Given the description of an element on the screen output the (x, y) to click on. 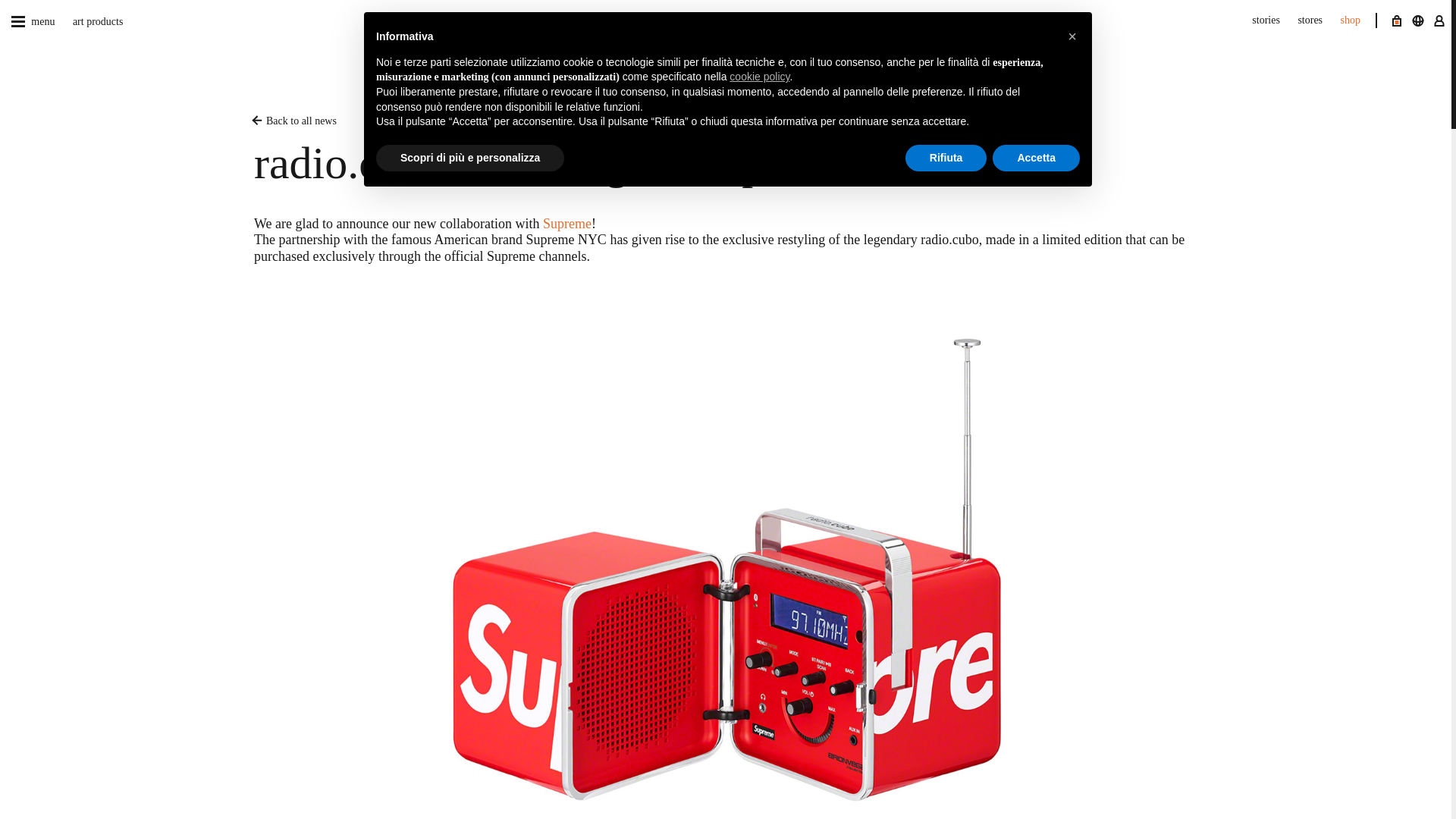
shop (1341, 20)
Supreme (567, 223)
art products (90, 21)
Back to all news (727, 120)
stories (1257, 20)
stores (1302, 20)
